Given the description of an element on the screen output the (x, y) to click on. 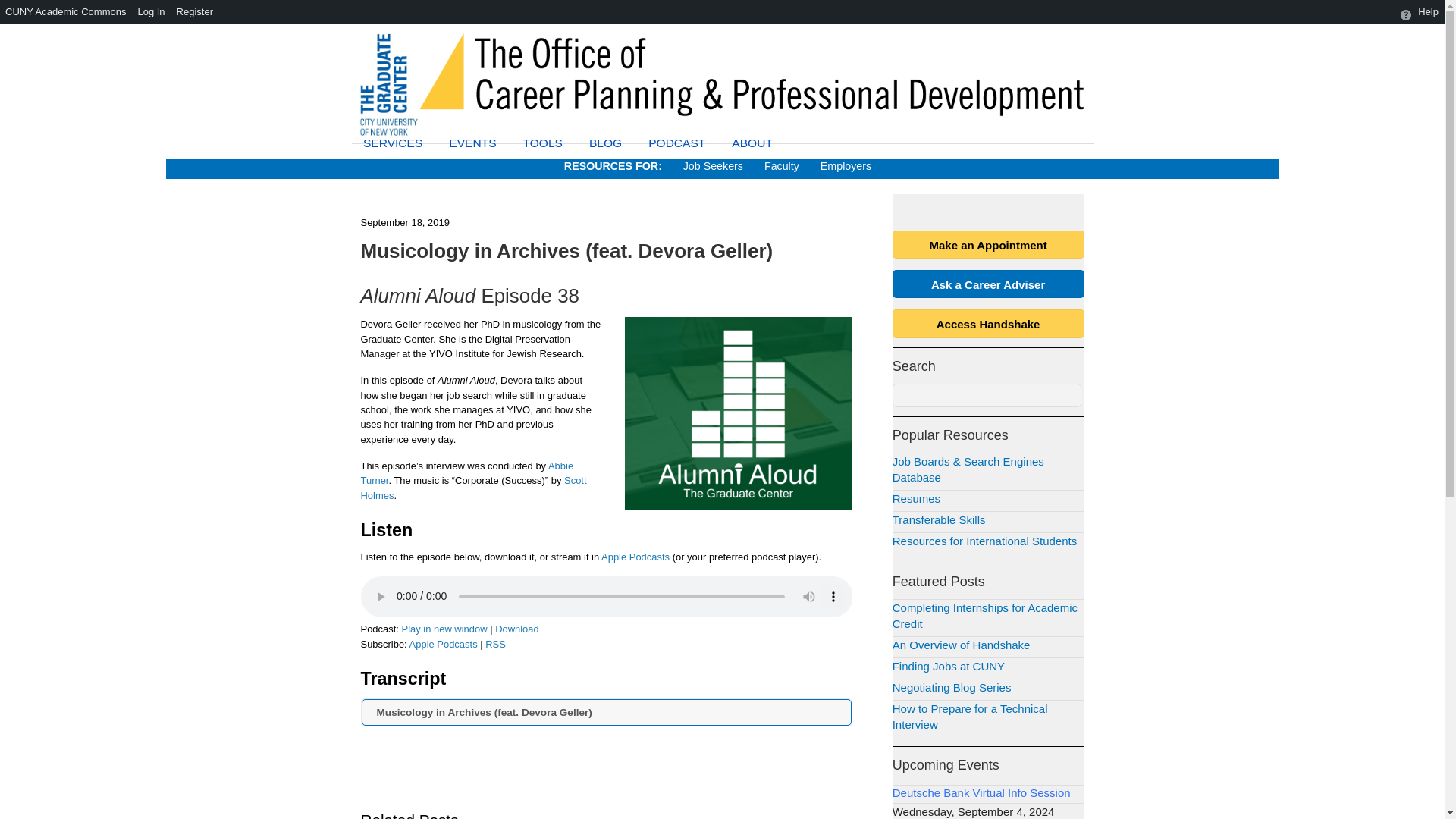
Log In (151, 12)
SERVICES (392, 142)
Notifications (1377, 12)
BLOG (605, 142)
Search (986, 395)
TOOLS (542, 142)
Abbie Turner (467, 473)
Register (195, 12)
ABOUT (752, 142)
EVENTS (472, 142)
